Given the description of an element on the screen output the (x, y) to click on. 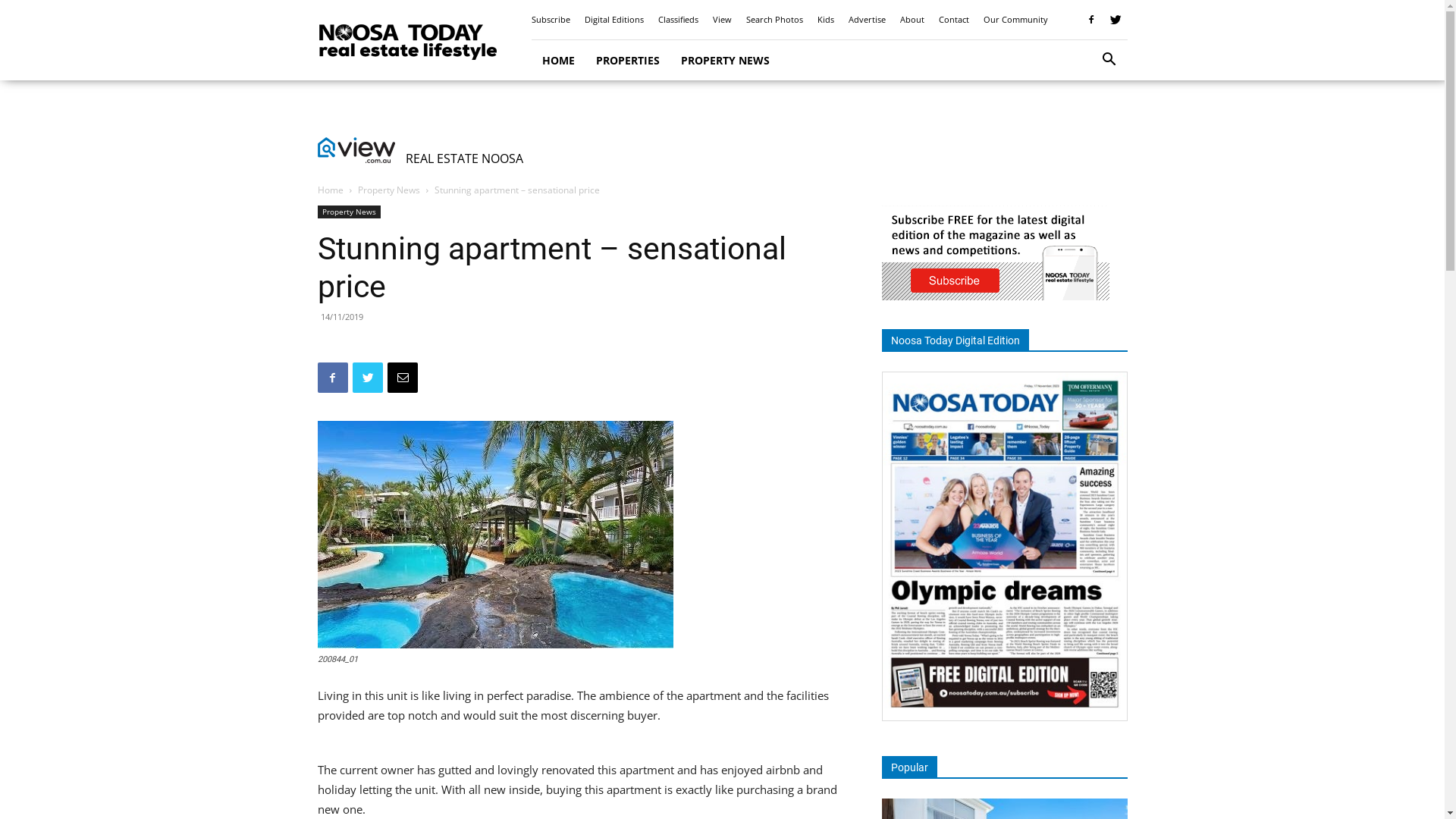
Twitter Element type: hover (1115, 19)
Kids Element type: text (825, 19)
Facebook Element type: hover (1090, 19)
About Element type: text (911, 19)
PROPERTY NEWS Element type: text (725, 60)
PROPERTIES Element type: text (627, 60)
Advertise Element type: text (865, 19)
View Element type: text (721, 19)
Contact Element type: text (953, 19)
Property News Element type: text (347, 211)
Search Element type: text (1085, 122)
Digital Editions Element type: text (613, 19)
Subscribe Element type: text (549, 19)
Home Element type: text (329, 189)
Facebook Element type: hover (331, 377)
Property News Element type: text (388, 189)
Classifieds Element type: text (678, 19)
Twitter Element type: hover (366, 377)
garfields_200844_01.jpg Element type: hover (494, 534)
Our Community Element type: text (1014, 19)
Email Element type: hover (401, 377)
Search Photos Element type: text (774, 19)
HOME Element type: text (557, 60)
